Given the description of an element on the screen output the (x, y) to click on. 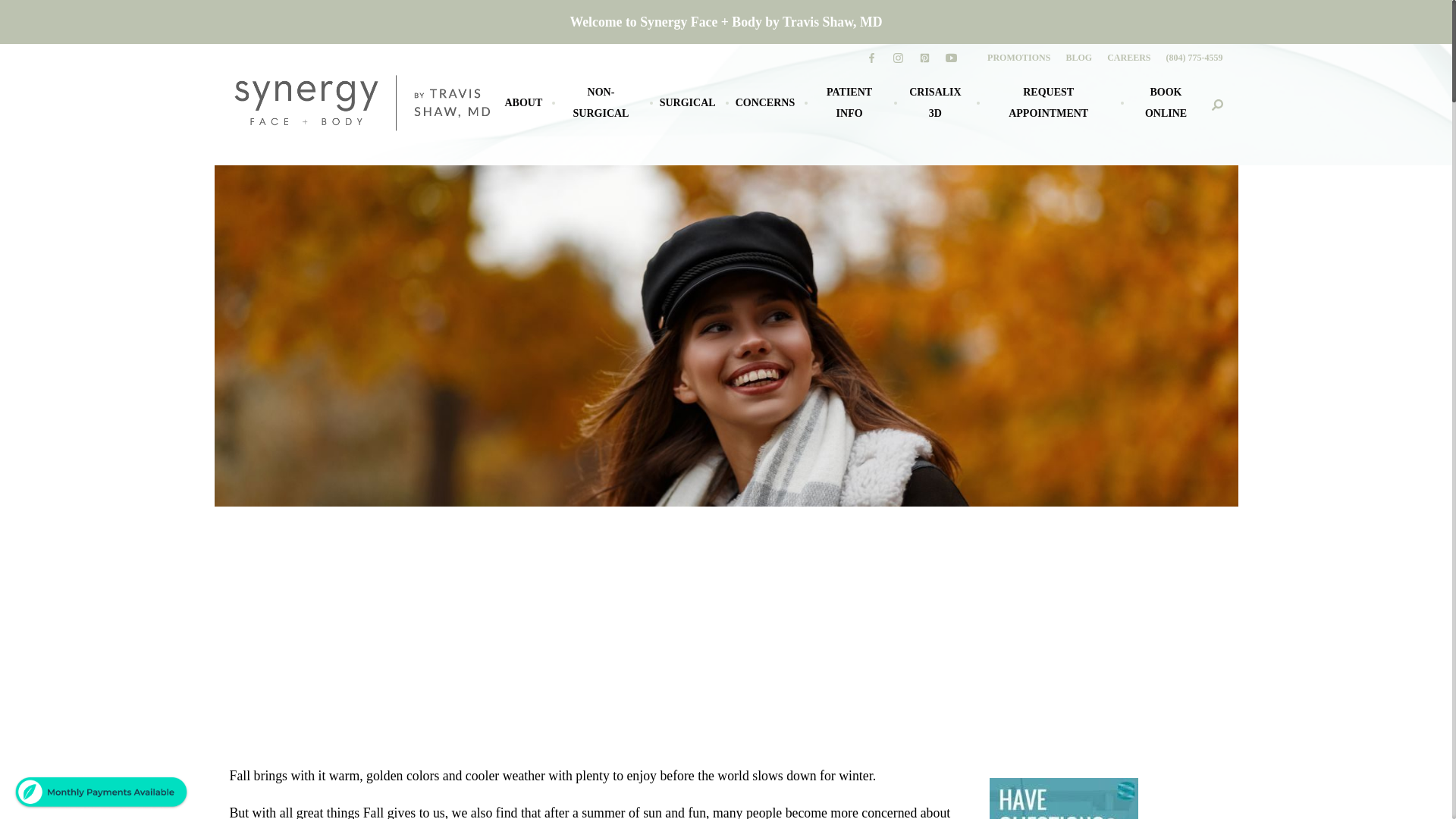
NON-SURGICAL (600, 102)
PROMOTIONS (1018, 57)
CAREERS (1128, 57)
BLOG (1078, 57)
ABOUT (523, 102)
